Given the description of an element on the screen output the (x, y) to click on. 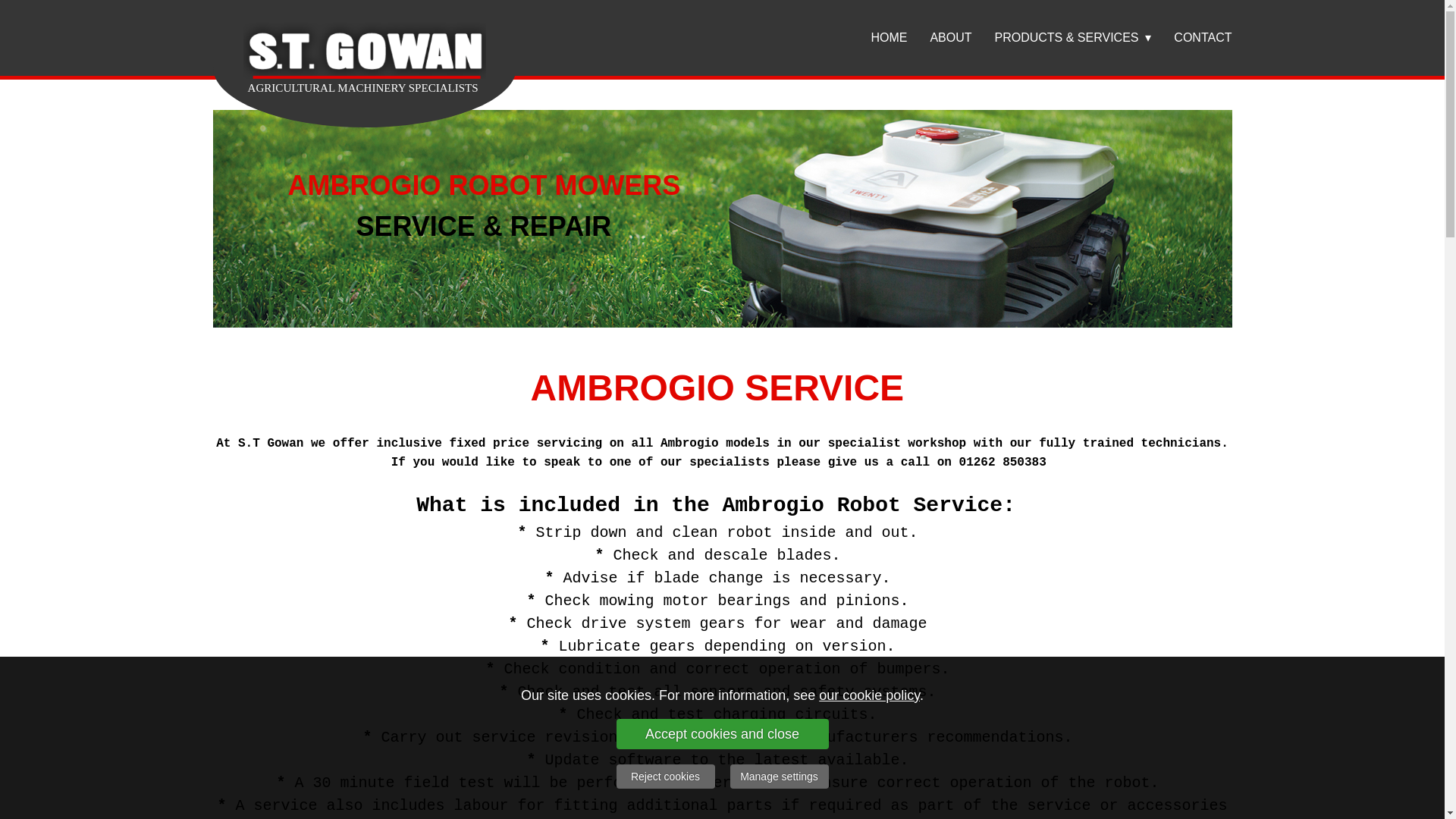
our cookie policy (869, 694)
Manage settings (778, 776)
HOME (877, 37)
ABOUT (939, 37)
CONTACT (1191, 37)
